Given the description of an element on the screen output the (x, y) to click on. 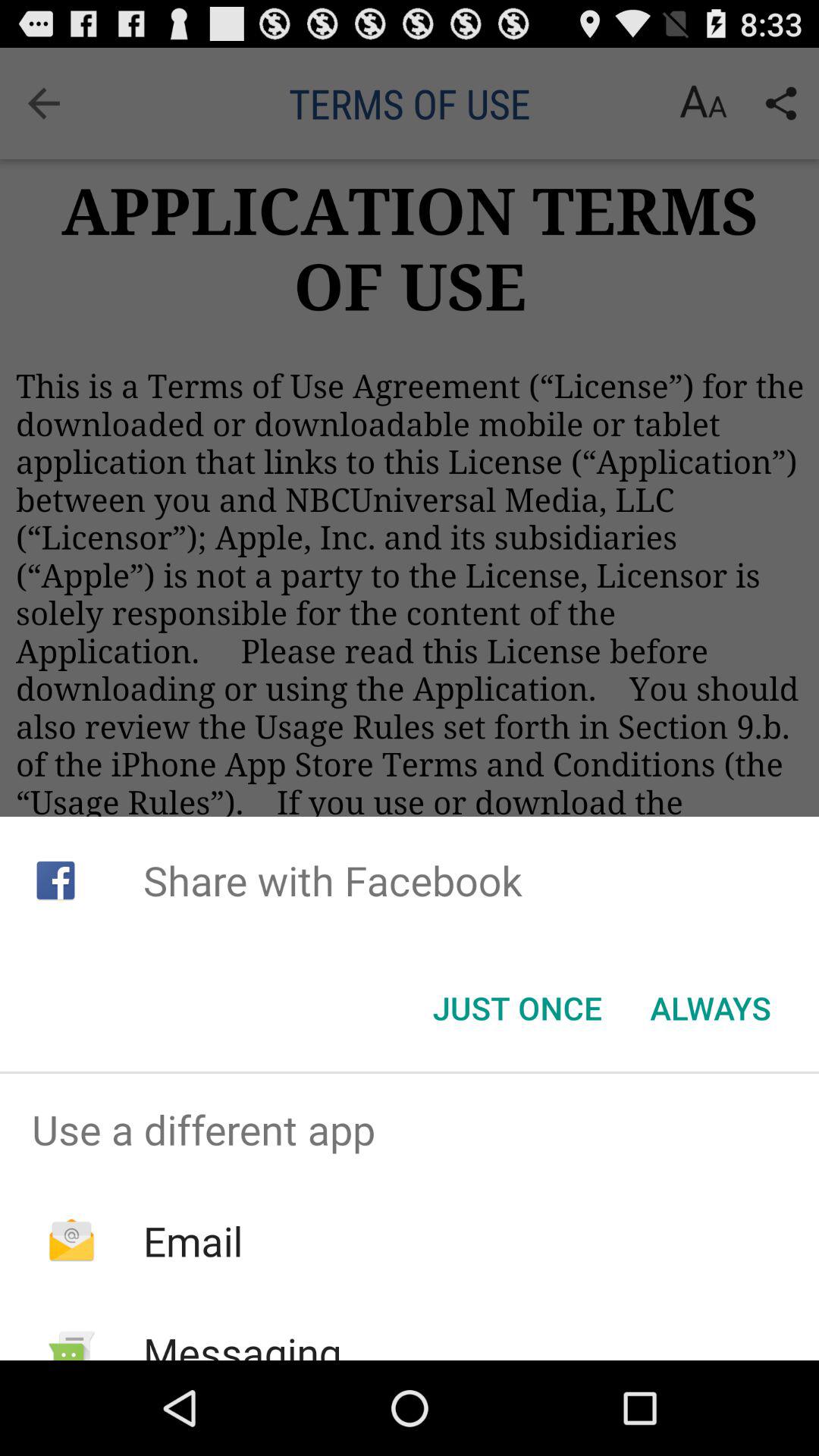
turn off the icon below the use a different (192, 1240)
